Given the description of an element on the screen output the (x, y) to click on. 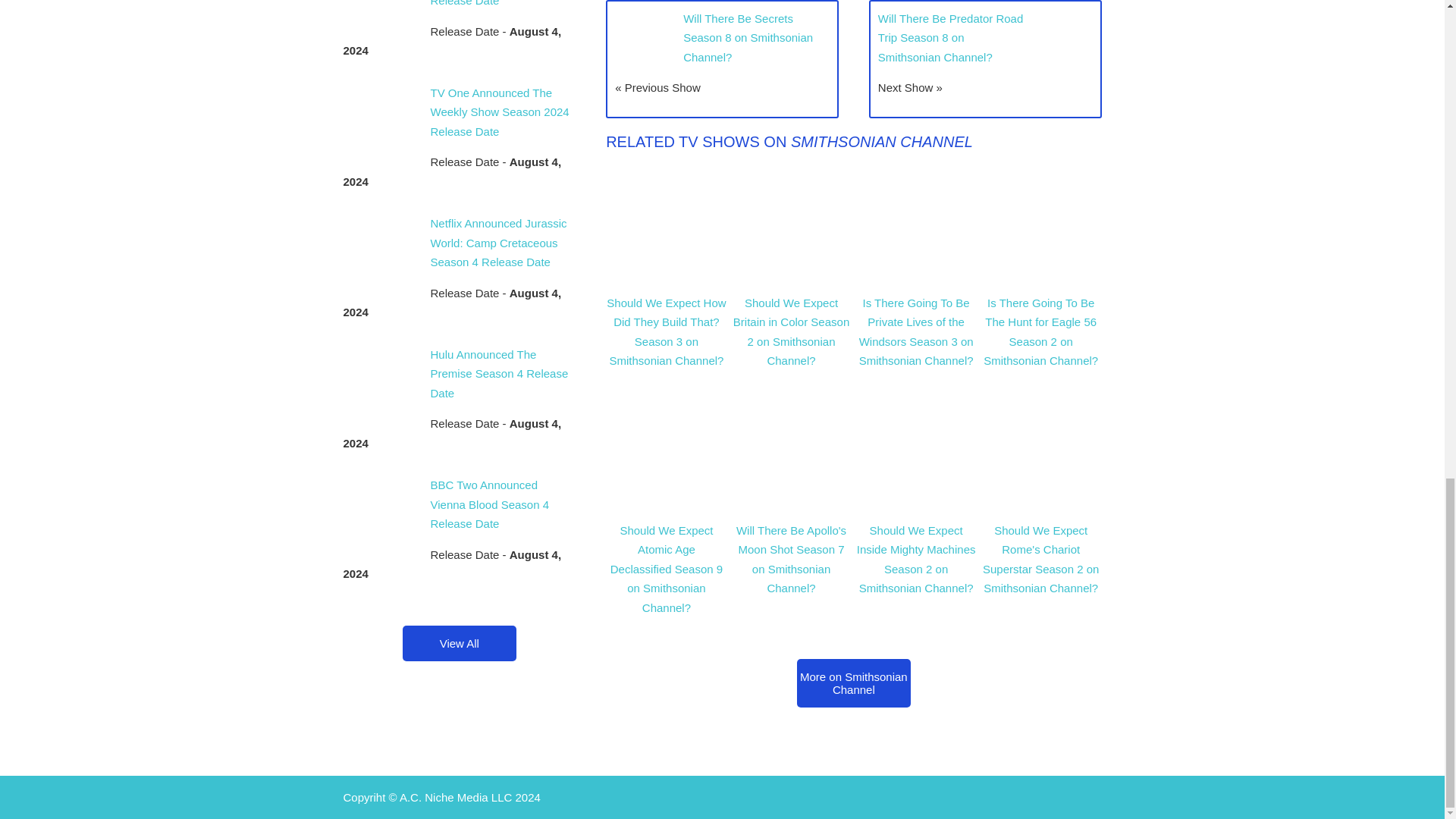
Will There Be Secrets Season 8 on Smithsonian Channel? (747, 37)
More on Smithsonian Channel (853, 683)
